Given the description of an element on the screen output the (x, y) to click on. 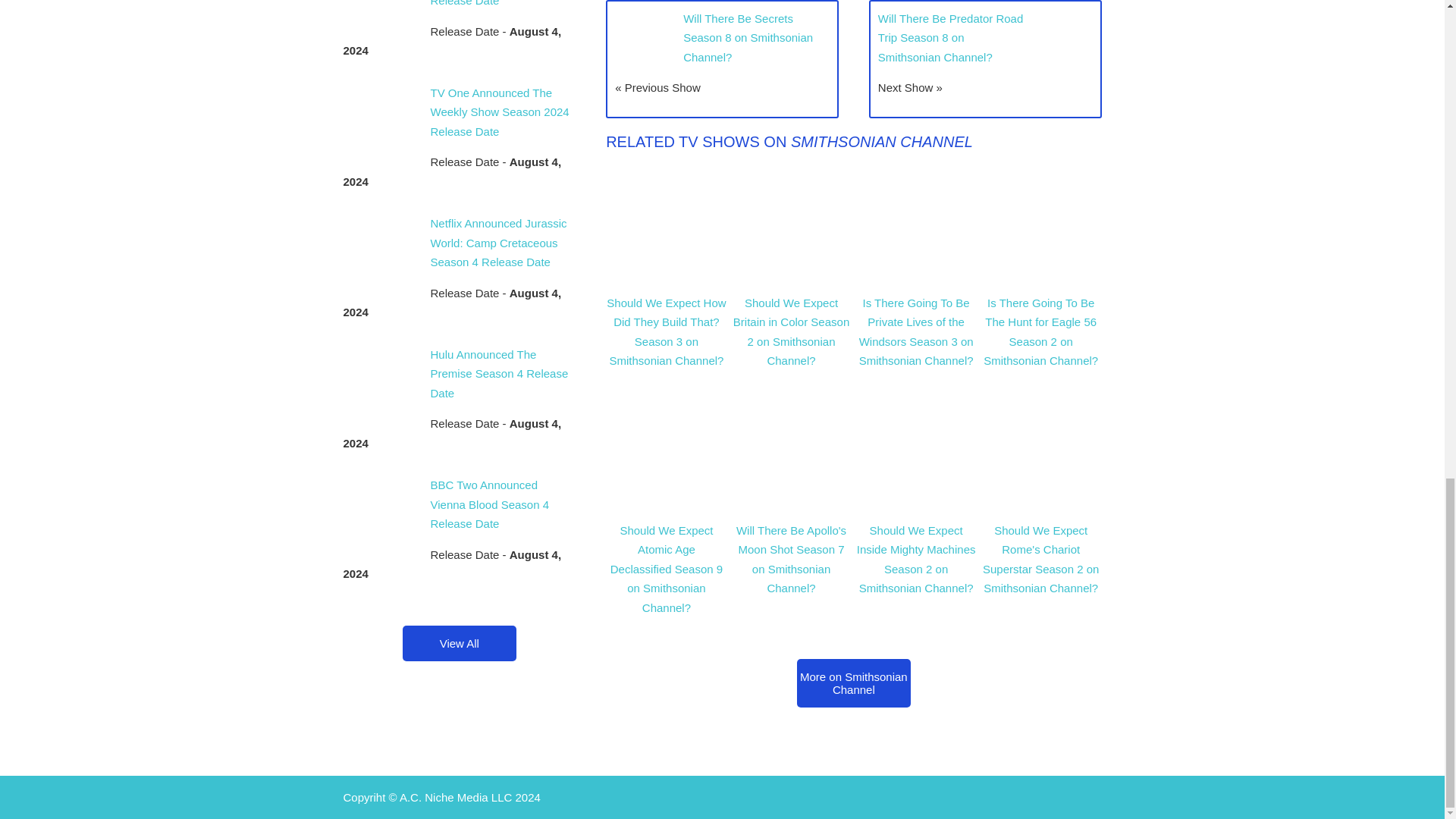
Will There Be Secrets Season 8 on Smithsonian Channel? (747, 37)
More on Smithsonian Channel (853, 683)
